Given the description of an element on the screen output the (x, y) to click on. 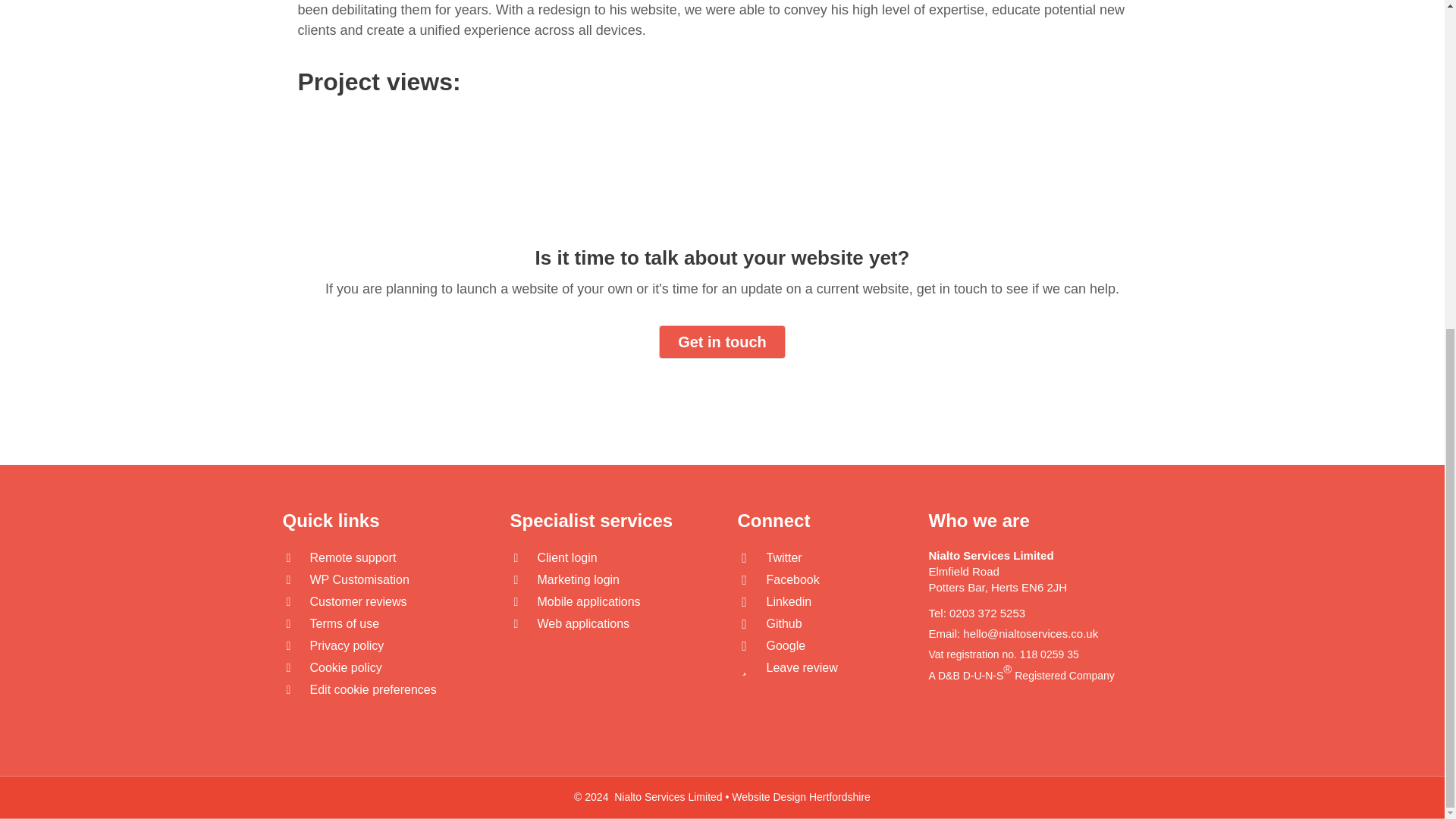
Privacy policy (346, 645)
Twitter (783, 557)
Client login (566, 557)
Marketing login (578, 579)
Terms of use (343, 623)
WP Customisation (358, 579)
Get in touch (722, 341)
Facebook (791, 579)
Linkedin (787, 601)
Remote support (352, 557)
